Given the description of an element on the screen output the (x, y) to click on. 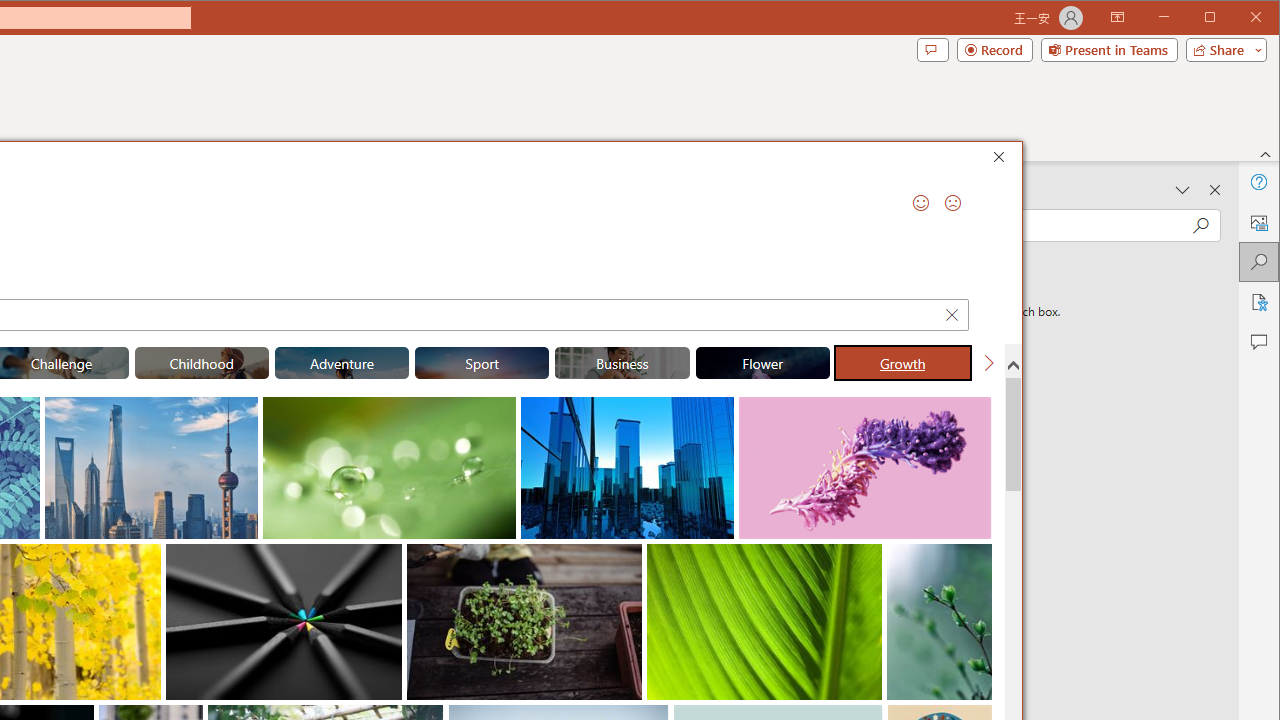
Thumbnail (977, 558)
Send a Frown (952, 202)
Search (1258, 261)
"Flower" Stock Images. (762, 362)
"Adventure" Stock Images. (342, 362)
Help (1258, 182)
Task Pane Options (1183, 189)
"Growth" Stock Images. (902, 362)
Ribbon Display Options (1117, 17)
